Given the description of an element on the screen output the (x, y) to click on. 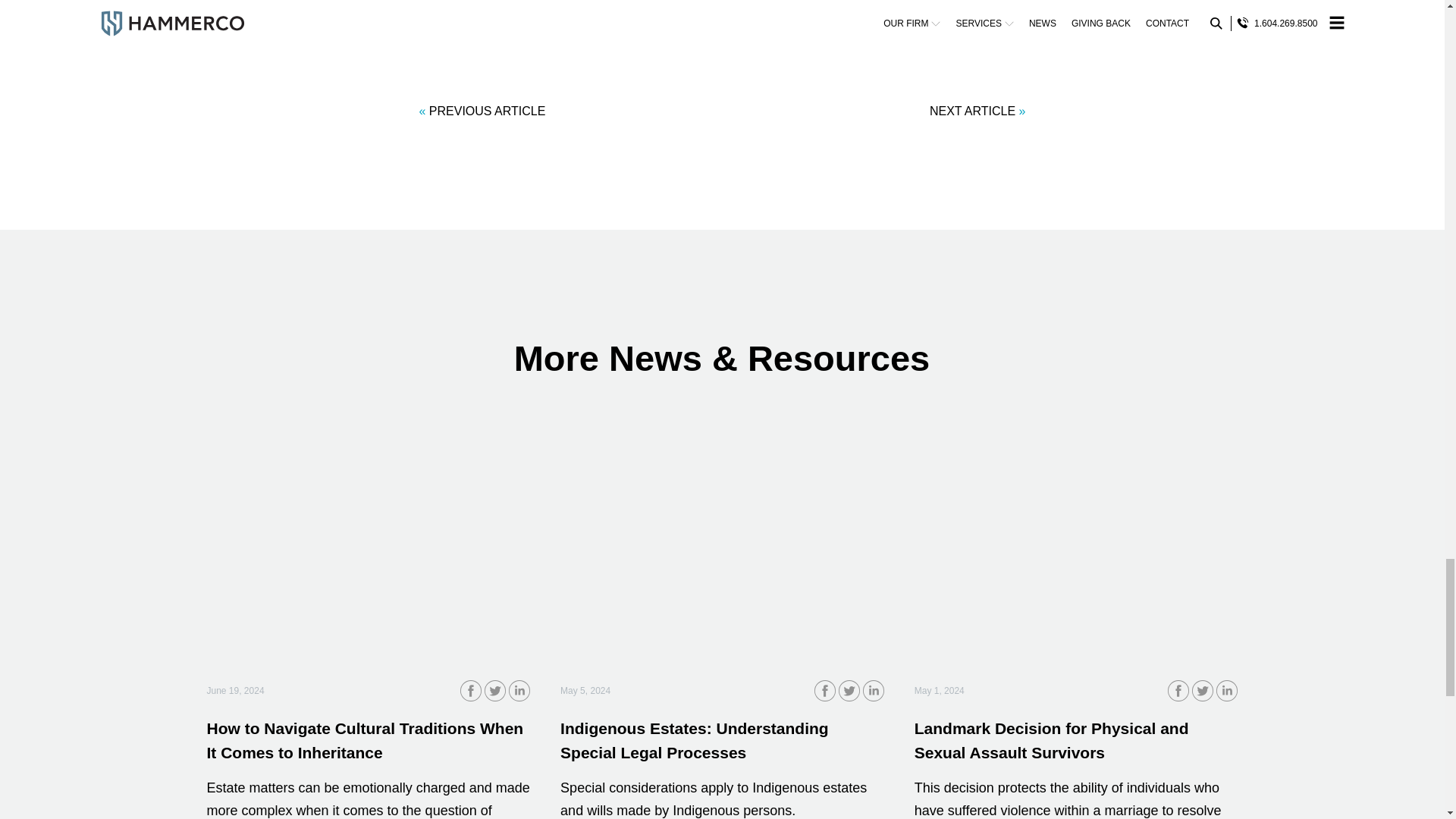
Splendid black sand beach in Vik, Iceland (1076, 549)
Drone view of a residential neighbourhood (721, 549)
